Given the description of an element on the screen output the (x, y) to click on. 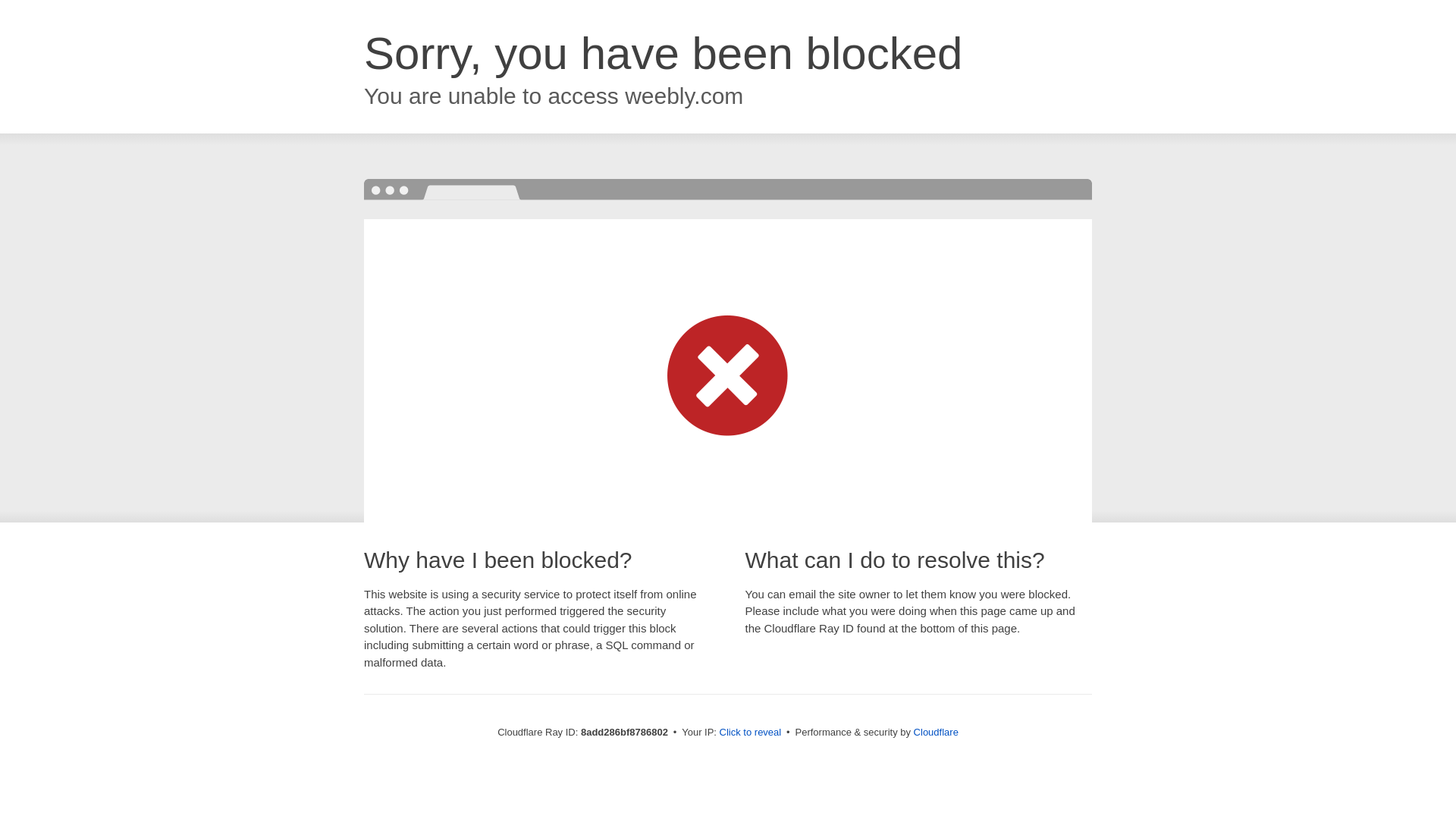
Click to reveal (750, 732)
Cloudflare (936, 731)
